Given the description of an element on the screen output the (x, y) to click on. 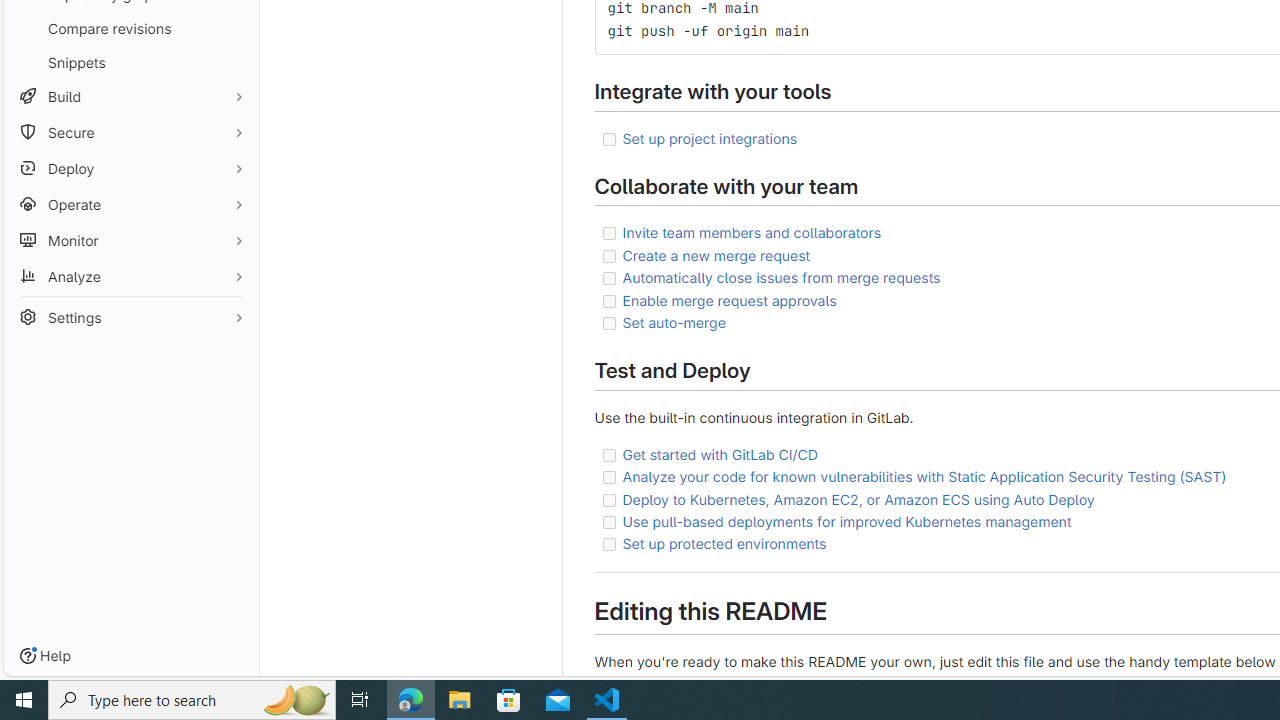
Get started with GitLab CI/CD (719, 453)
Secure (130, 132)
Monitor (130, 240)
Compare revisions (130, 28)
Snippets (130, 62)
makeareadme.com (727, 682)
Snippets (130, 62)
Monitor (130, 240)
Create a new merge request (716, 255)
Build (130, 96)
Build (130, 96)
Class: task-list-item-checkbox (608, 544)
Deploy (130, 168)
Compare revisions (130, 28)
